Given the description of an element on the screen output the (x, y) to click on. 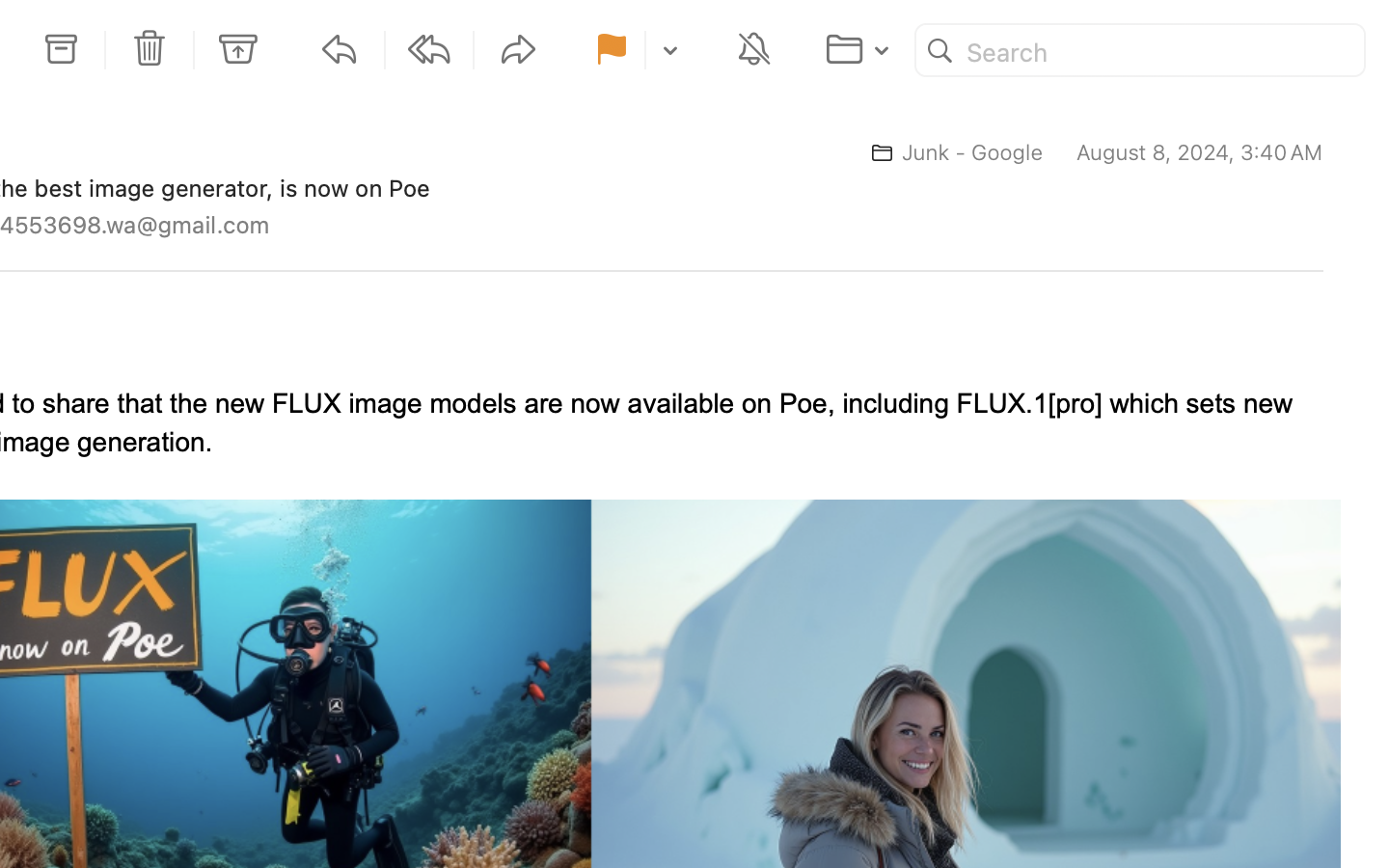
August 8, 2024, 3:40 AM Element type: AXStaticText (1199, 151)
￼Junk - Google Element type: AXStaticText (948, 151)
